Given the description of an element on the screen output the (x, y) to click on. 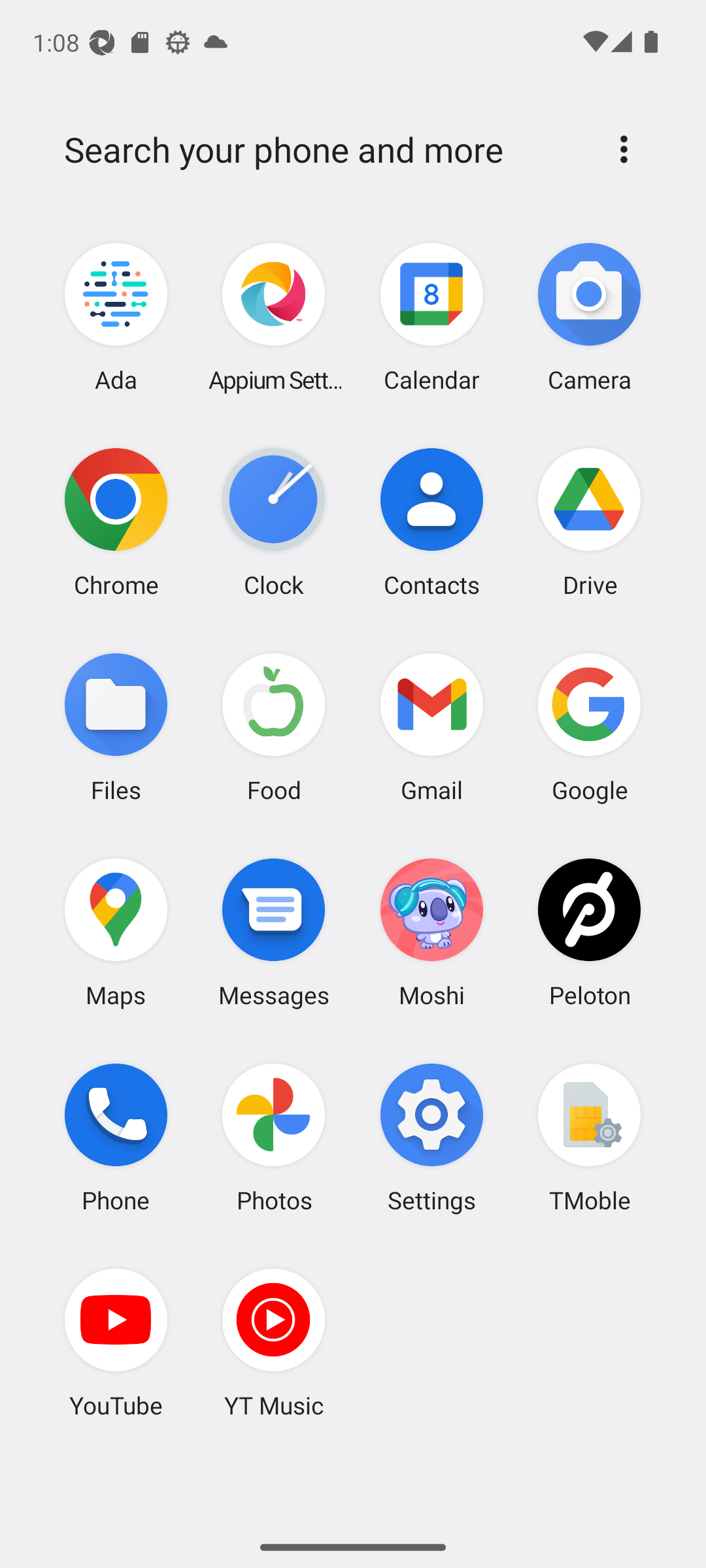
Search your phone and more (321, 149)
Preferences (623, 149)
Ada (115, 317)
Appium Settings (273, 317)
Calendar (431, 317)
Camera (589, 317)
Chrome (115, 522)
Clock (273, 522)
Contacts (431, 522)
Drive (589, 522)
Files (115, 726)
Food (273, 726)
Gmail (431, 726)
Google (589, 726)
Maps (115, 931)
Messages (273, 931)
Moshi (431, 931)
Peloton (589, 931)
Phone (115, 1137)
Photos (273, 1137)
Settings (431, 1137)
TMoble (589, 1137)
YouTube (115, 1342)
YT Music (273, 1342)
